Given the description of an element on the screen output the (x, y) to click on. 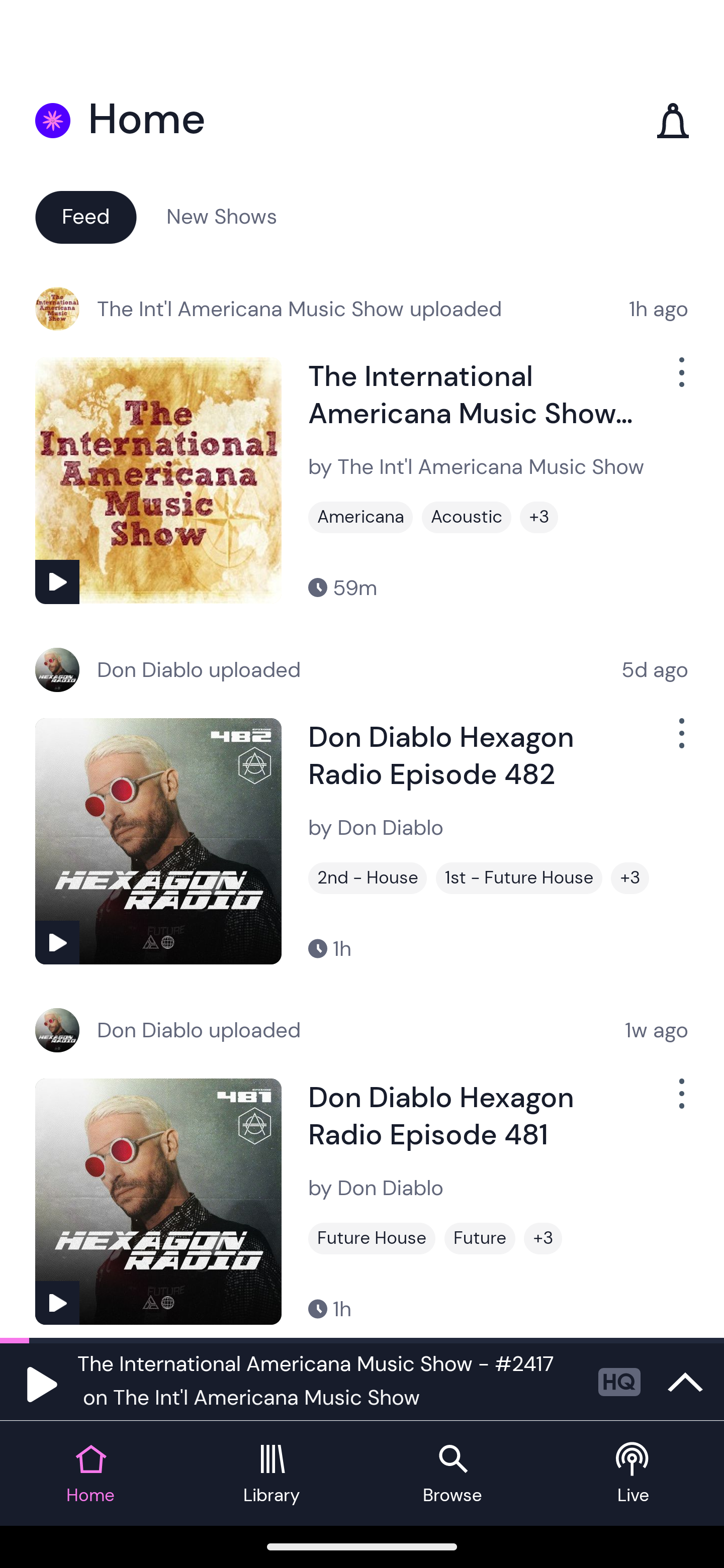
Feed (85, 216)
New Shows (221, 216)
Show Options Menu Button (679, 379)
Americana (360, 517)
Acoustic (466, 517)
Show Options Menu Button (679, 740)
2nd - House (367, 877)
1st - Future House (518, 877)
Show Options Menu Button (679, 1101)
Future House (371, 1238)
Future (479, 1238)
Home tab Home (90, 1473)
Library tab Library (271, 1473)
Browse tab Browse (452, 1473)
Live tab Live (633, 1473)
